Given the description of an element on the screen output the (x, y) to click on. 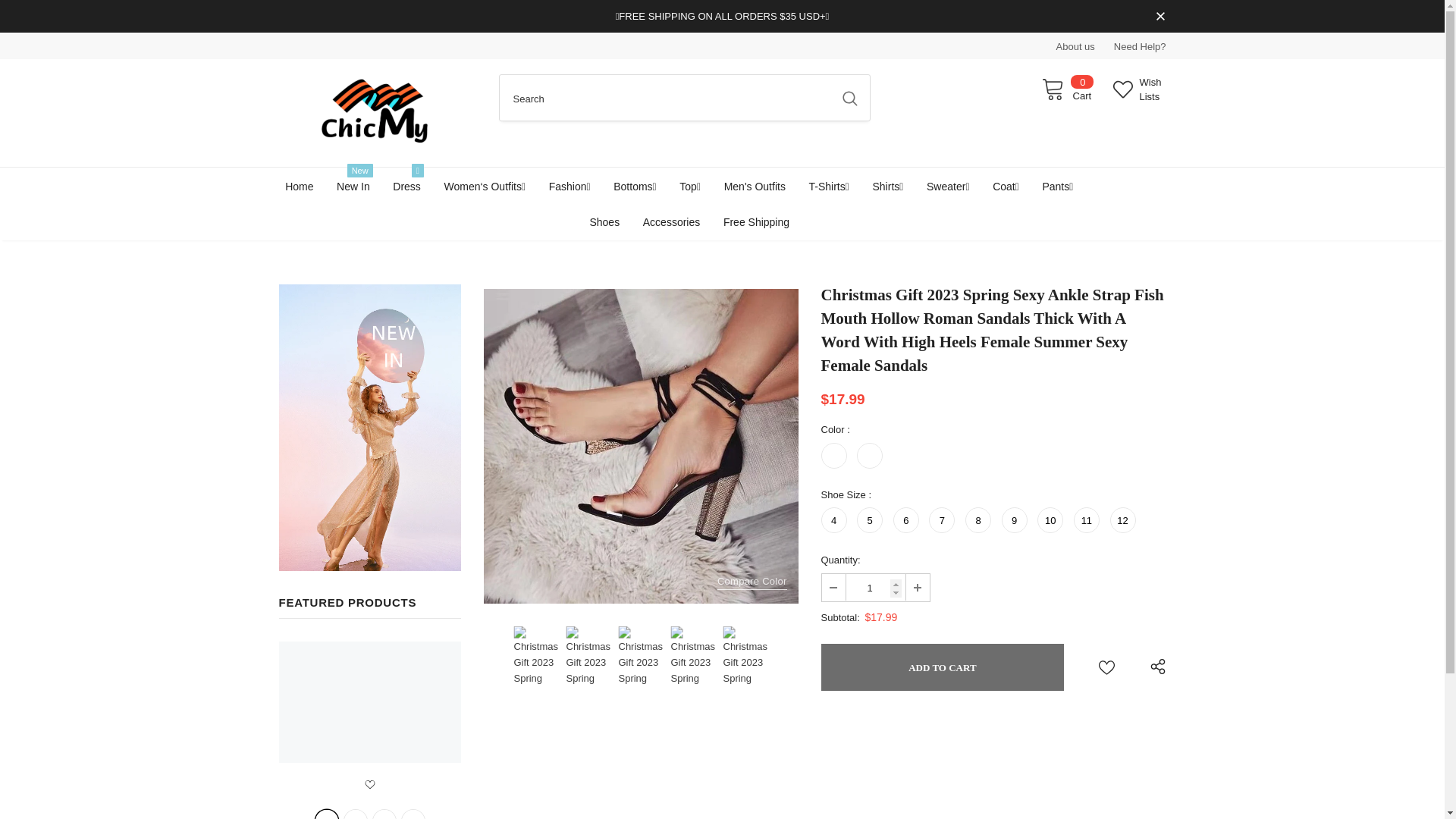
Accessories (671, 221)
About us (1075, 46)
1 (875, 586)
Cart (1067, 88)
close (1160, 17)
Add to cart (942, 667)
Need Help? (1139, 46)
Logo (377, 112)
Men'S Outfits (754, 185)
Wish Lists (1139, 89)
